Given the description of an element on the screen output the (x, y) to click on. 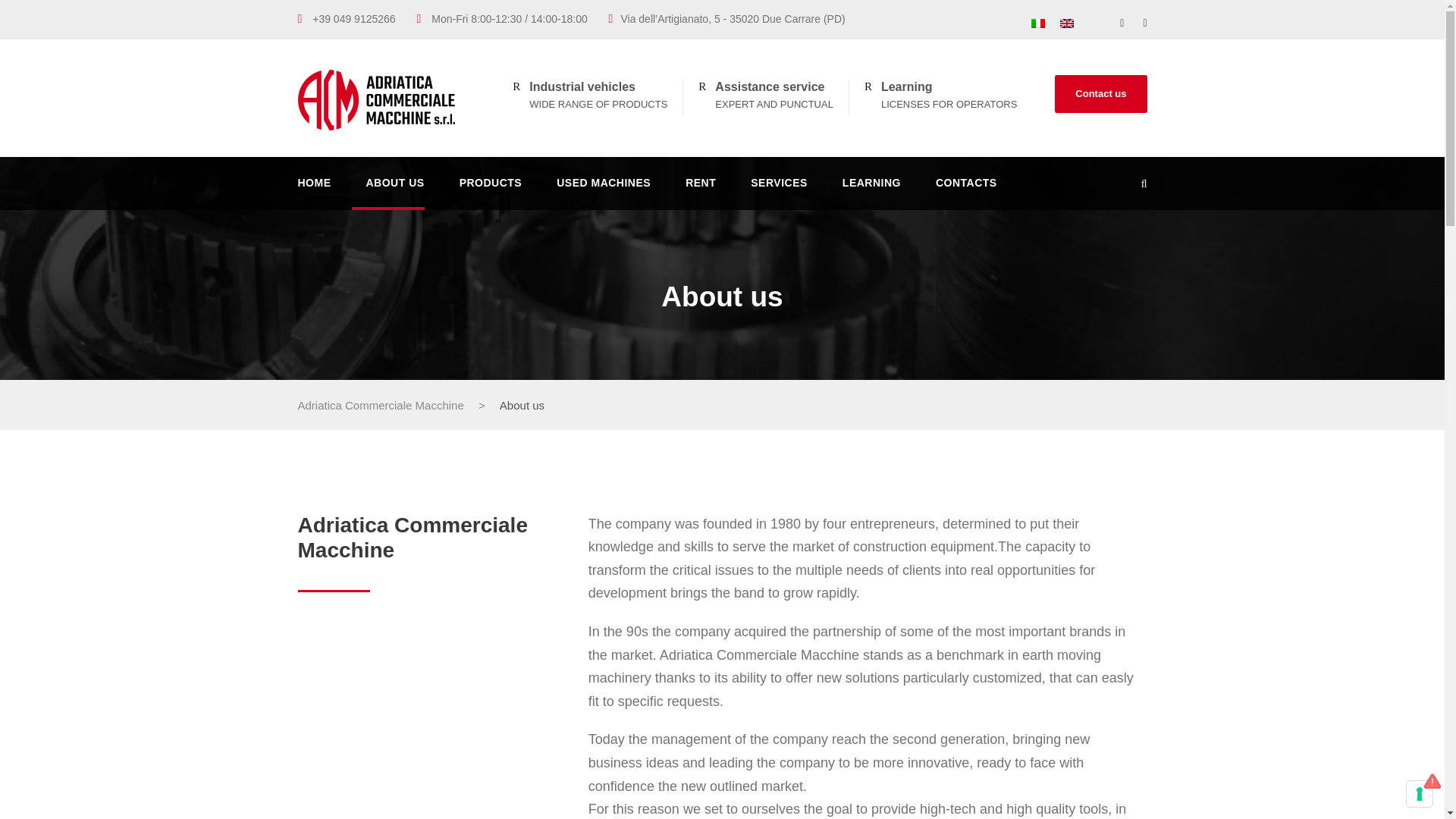
LICENSES FOR OPERATORS (948, 103)
EXPERT AND PUNCTUAL (773, 103)
Contact us (1100, 94)
Learning (906, 86)
logo-adriatica-commerciale-macchine (377, 99)
ABOUT US (394, 191)
HOME (313, 191)
Industrial vehicles (581, 86)
Go to Adriatica Commerciale Macchine. (380, 404)
PRODUCTS (491, 191)
WIDE RANGE OF PRODUCTS (597, 103)
Assistance service (769, 86)
